Given the description of an element on the screen output the (x, y) to click on. 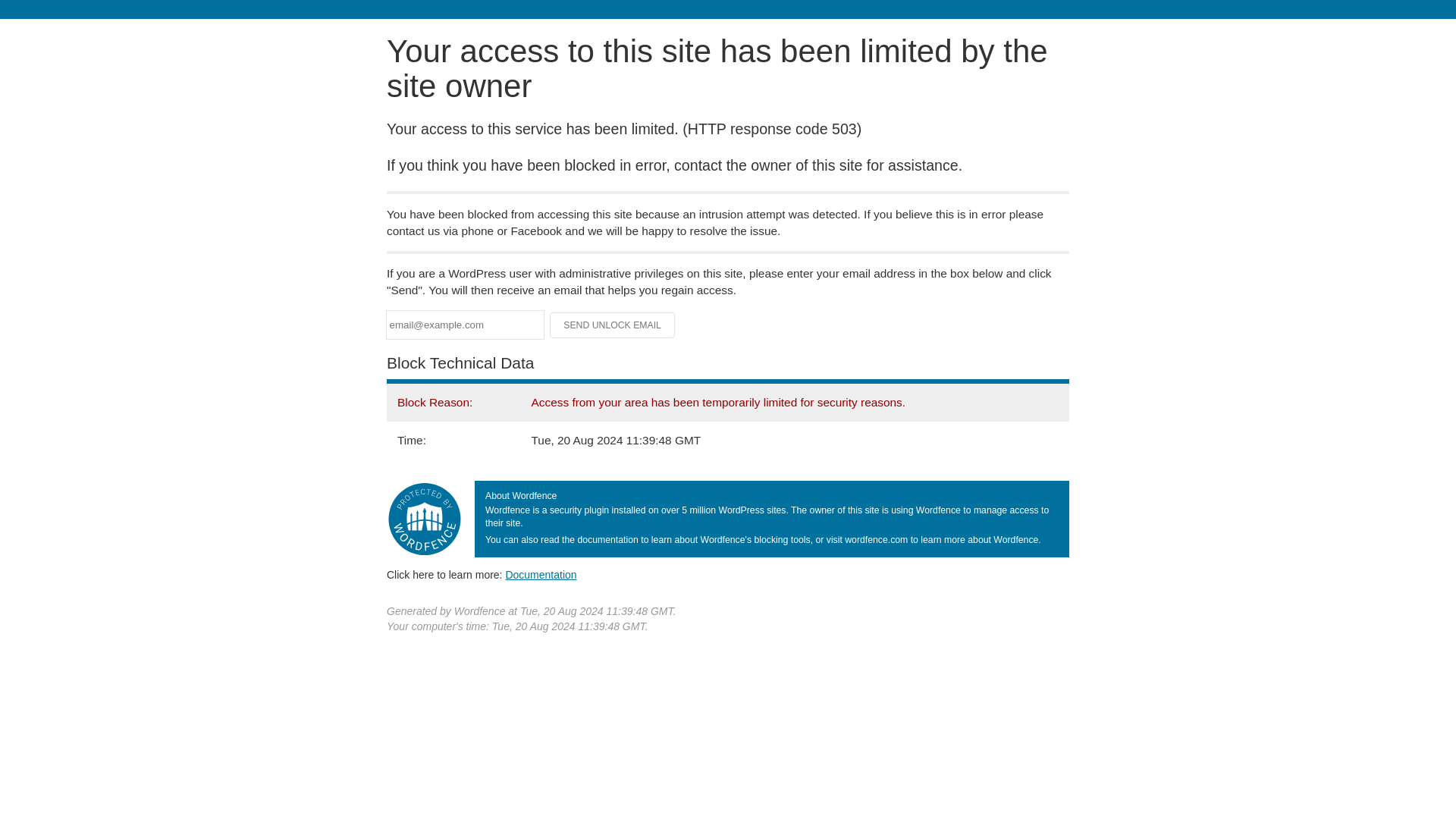
Send Unlock Email (612, 325)
Documentation (540, 574)
Send Unlock Email (612, 325)
